Given the description of an element on the screen output the (x, y) to click on. 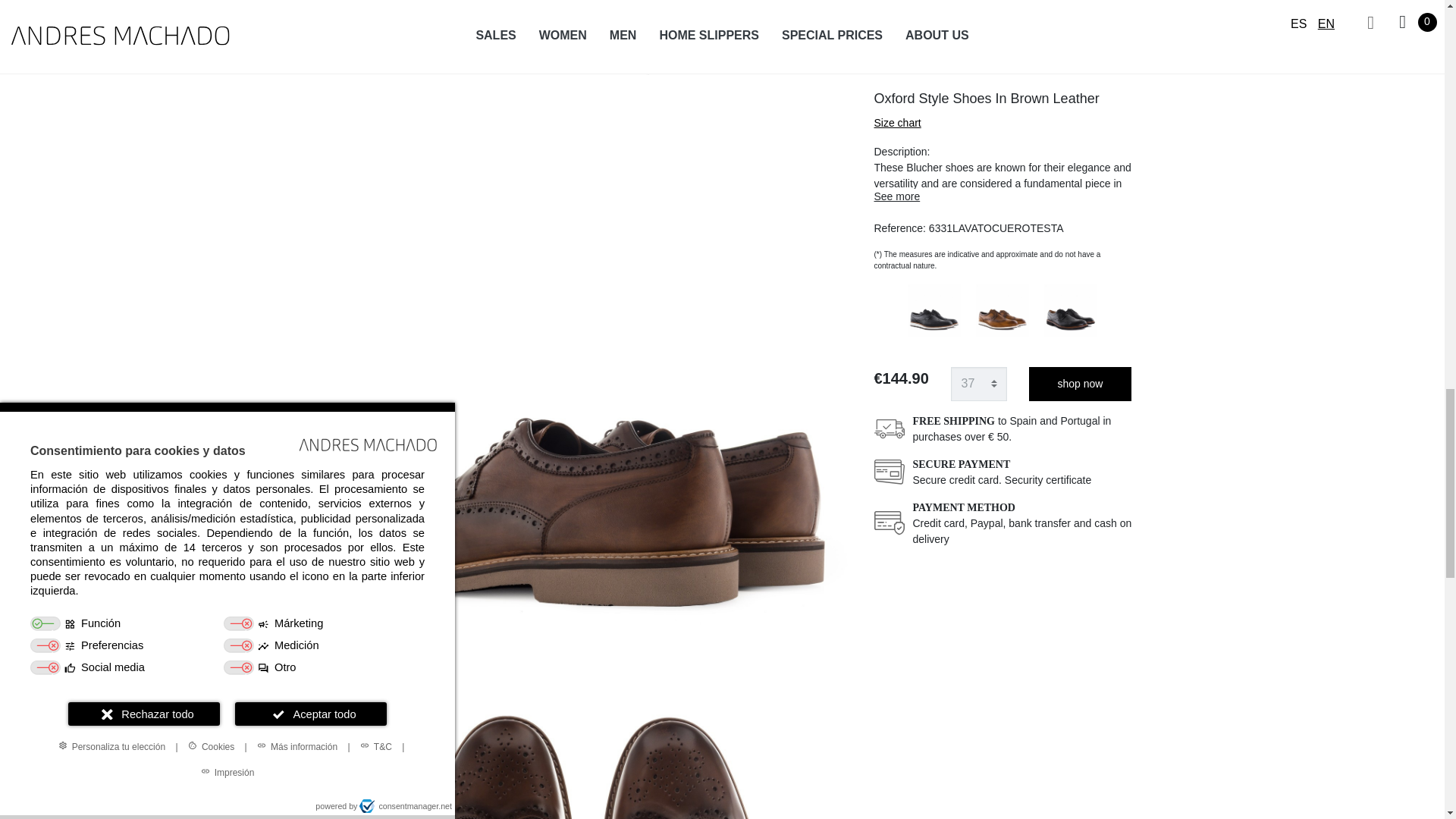
Oxford style Shoes in Brown Leather (581, 56)
Oxford style Shoes in Brown Leather (581, 758)
